Given the description of an element on the screen output the (x, y) to click on. 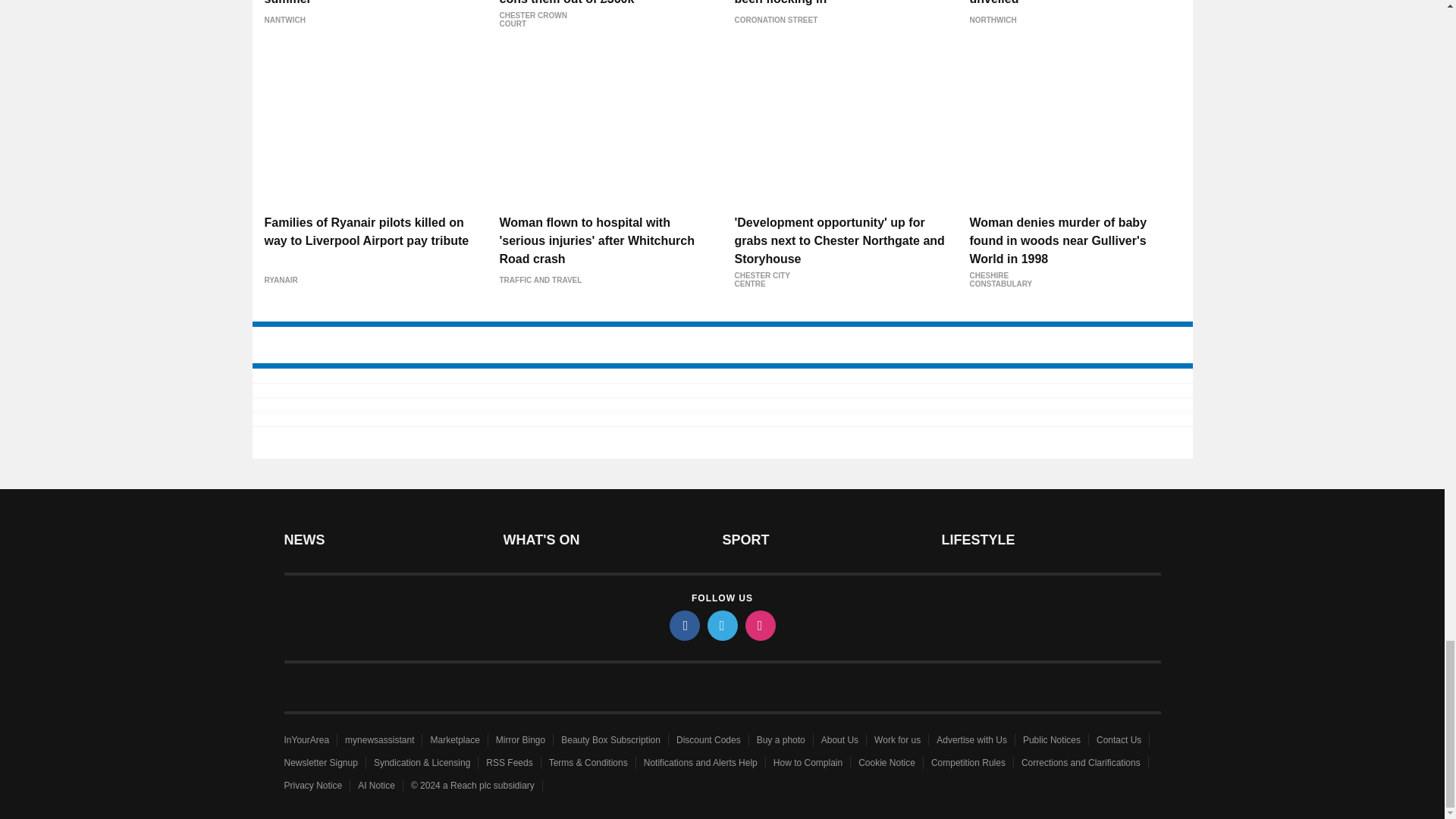
instagram (759, 625)
facebook (683, 625)
twitter (721, 625)
